Given the description of an element on the screen output the (x, y) to click on. 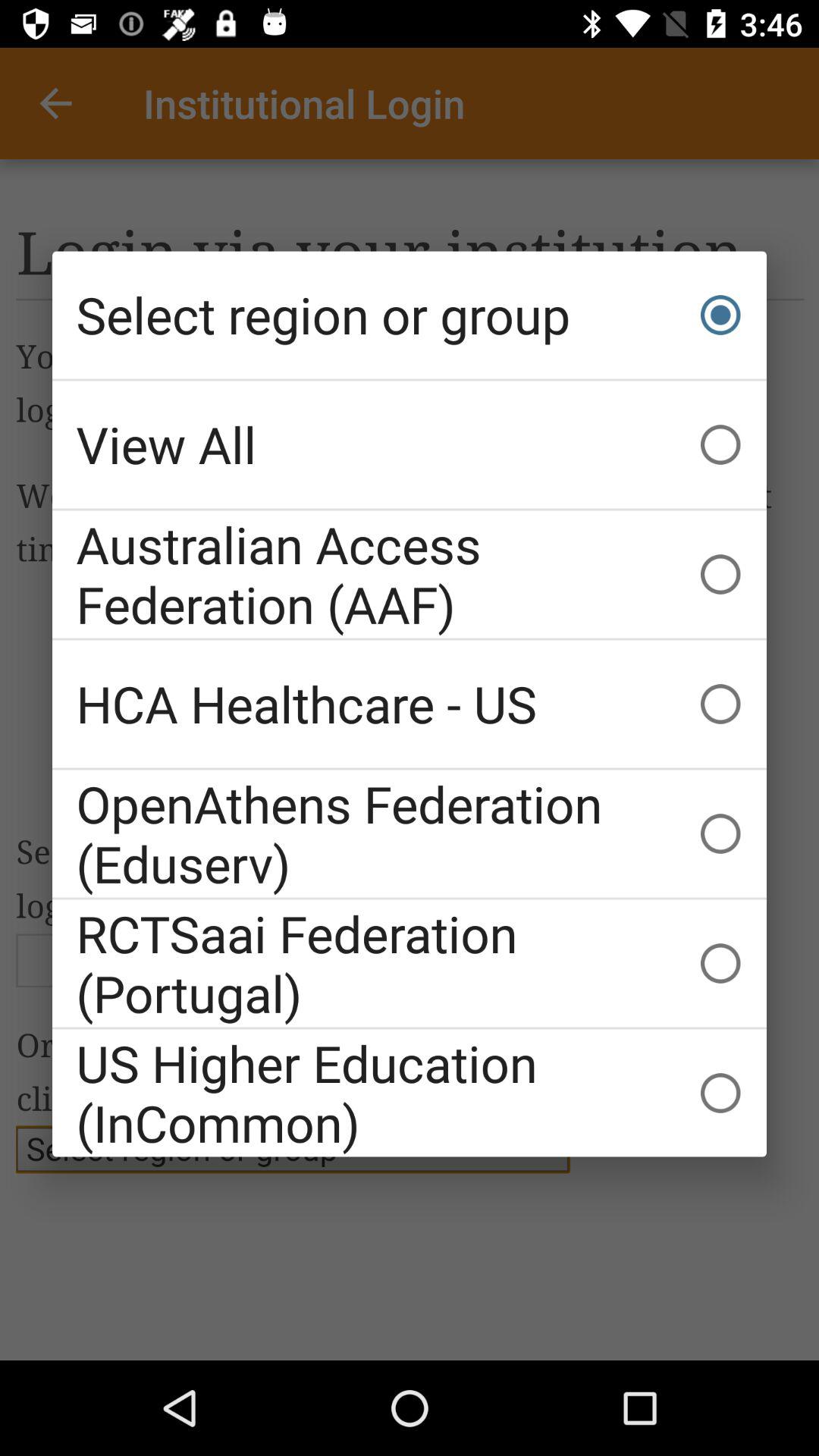
launch the hca healthcare - us item (409, 703)
